Given the description of an element on the screen output the (x, y) to click on. 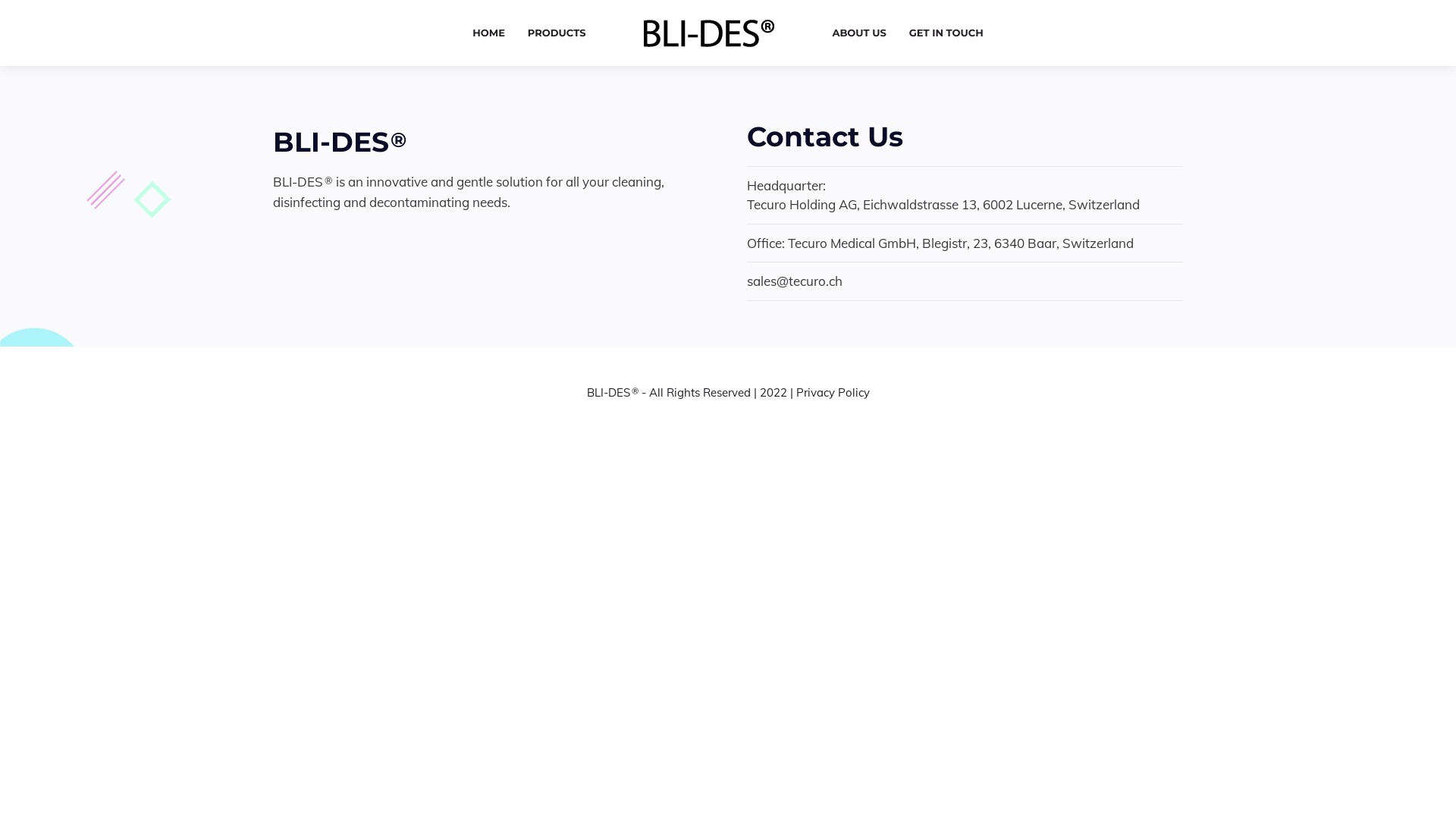
ABOUT US Element type: text (858, 32)
Privacy Policy Element type: text (832, 392)
PRODUCTS Element type: text (556, 32)
GET IN TOUCH Element type: text (946, 32)
sales@tecuro.ch Element type: text (794, 280)
HOME Element type: text (488, 32)
